Given the description of an element on the screen output the (x, y) to click on. 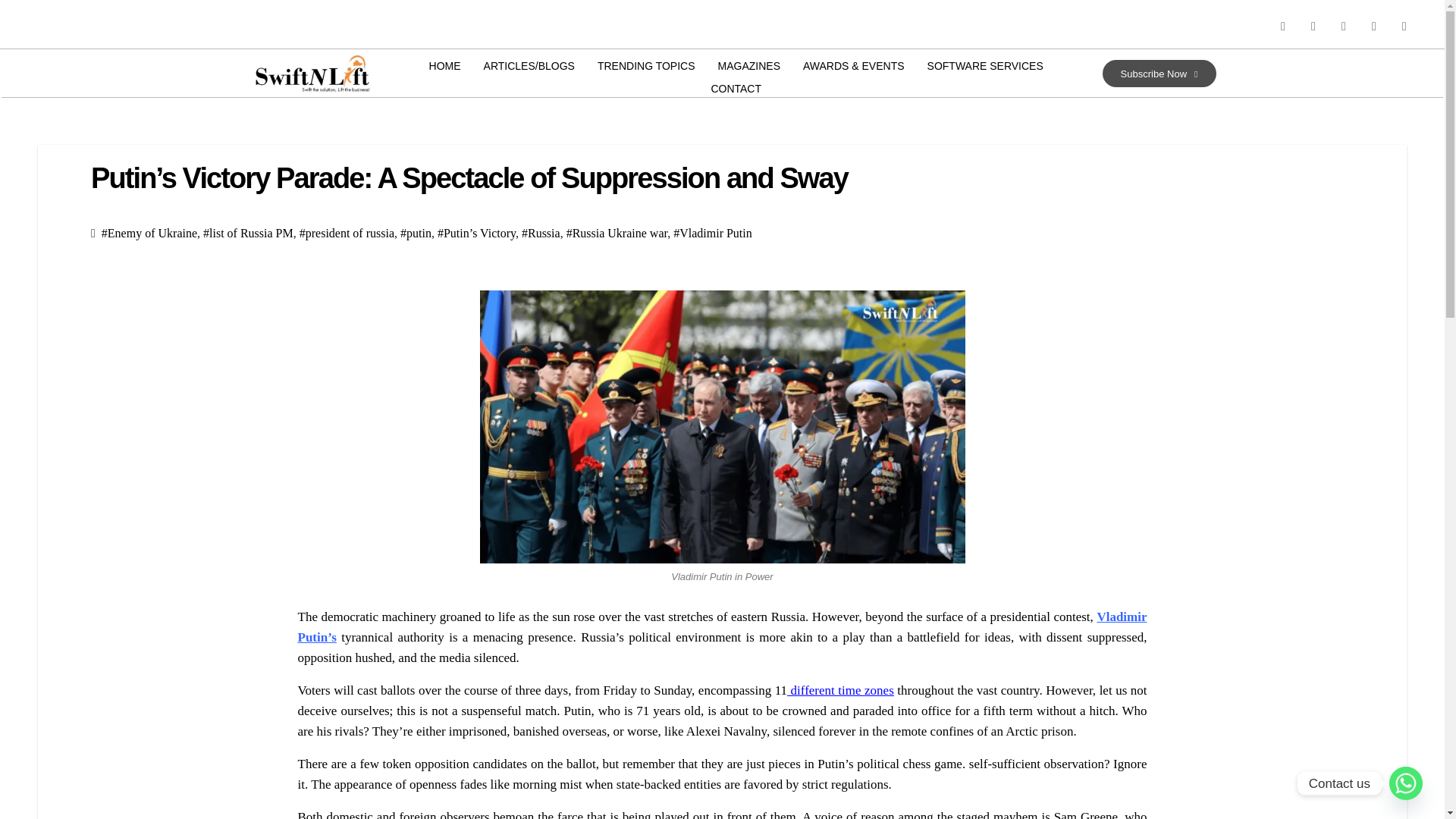
Subscribe Now (1158, 72)
MAGAZINES (749, 65)
TRENDING TOPICS (646, 65)
SOFTWARE SERVICES (984, 65)
HOME (444, 65)
CONTACT (735, 87)
different time zones (840, 690)
